Given the description of an element on the screen output the (x, y) to click on. 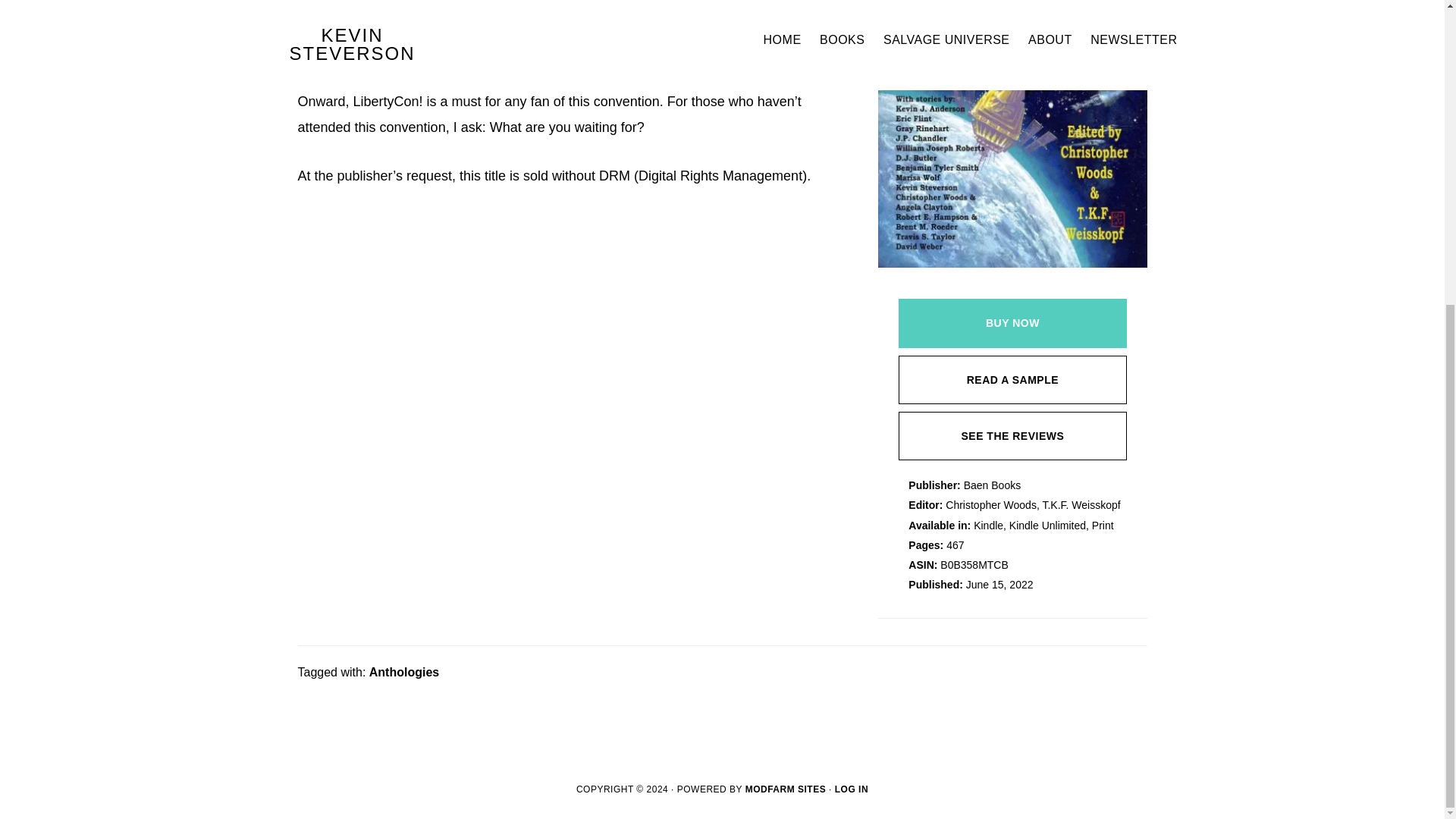
SEE THE REVIEWS (1012, 435)
BUY NOW (1012, 322)
LOG IN (850, 788)
Anthologies (404, 671)
READ A SAMPLE (1012, 379)
MODFARM SITES (786, 788)
